Given the description of an element on the screen output the (x, y) to click on. 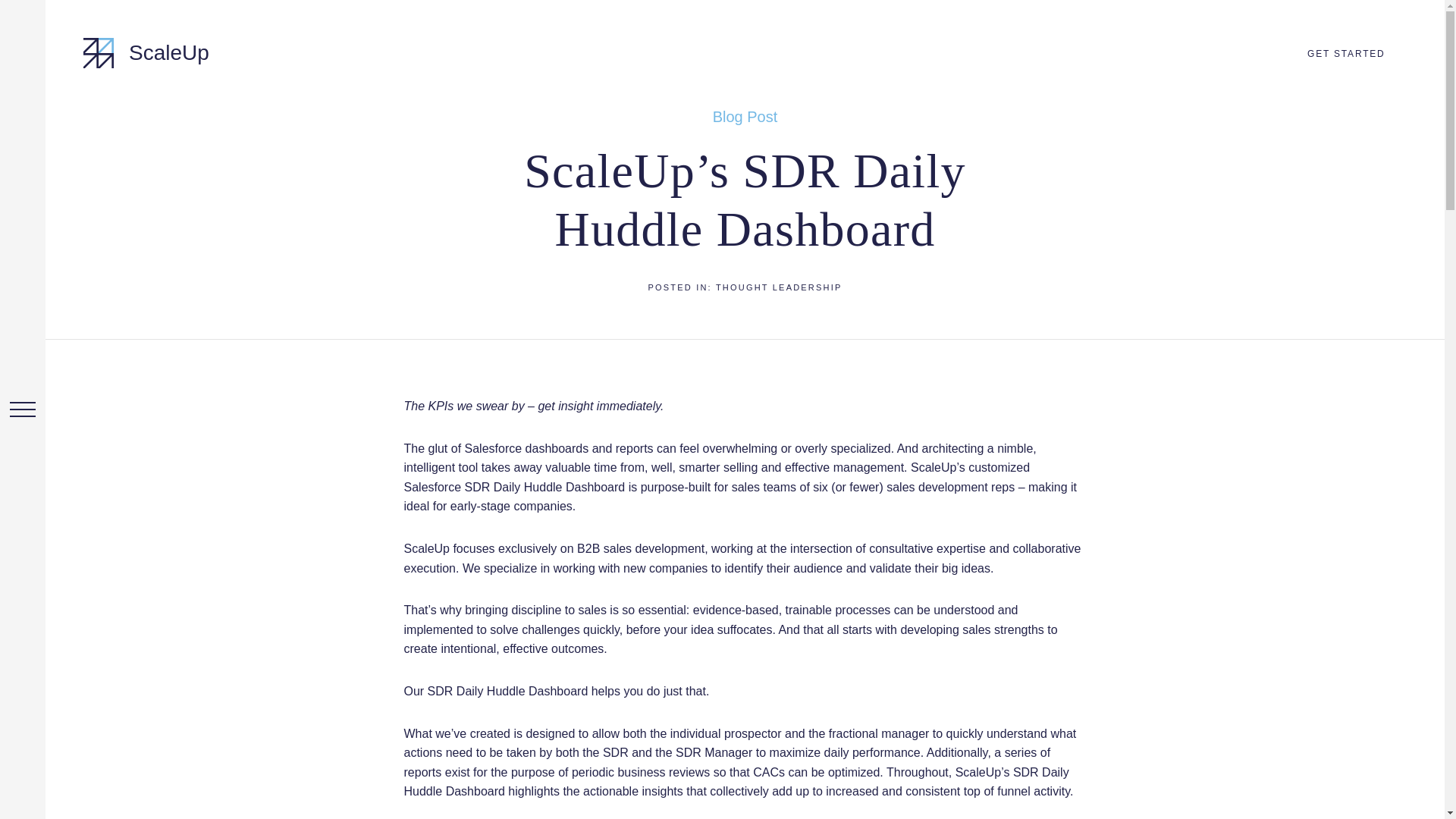
ScaleUp (145, 52)
THOUGHT LEADERSHIP (779, 286)
GET STARTED (1345, 53)
Menu (22, 409)
